Given the description of an element on the screen output the (x, y) to click on. 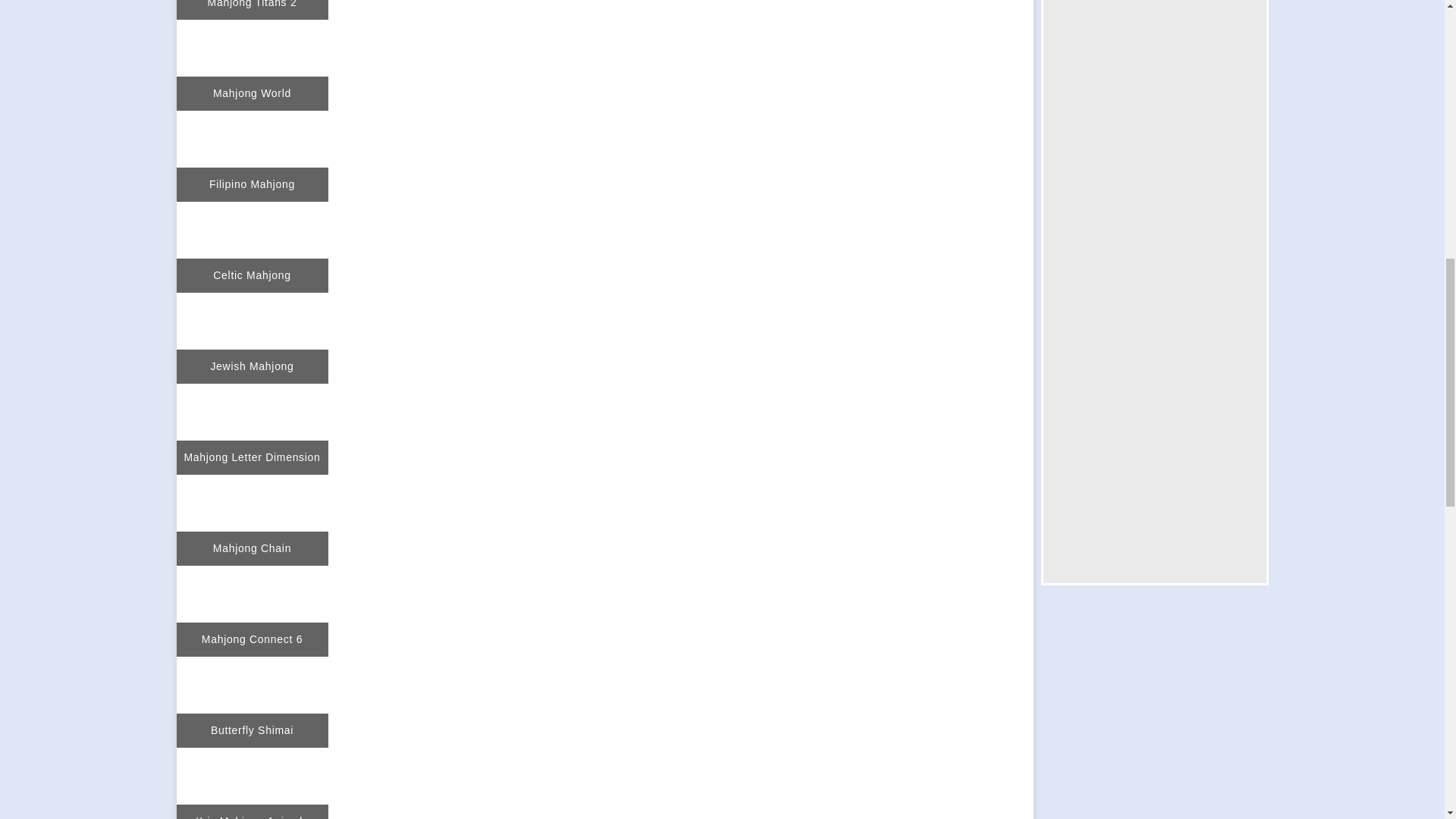
Filipino Mahjong (251, 155)
Jewish Mahjong (251, 338)
Celtic Mahjong (251, 246)
Mahjong Chain (251, 520)
Butterfly Shimai (251, 701)
Mahjong Connect 6 (251, 610)
Mahjong Titans 2 (251, 9)
Mahjong World (251, 64)
Mahjong Letter Dimension (251, 429)
Kris Mahjong Animals (251, 783)
